Given the description of an element on the screen output the (x, y) to click on. 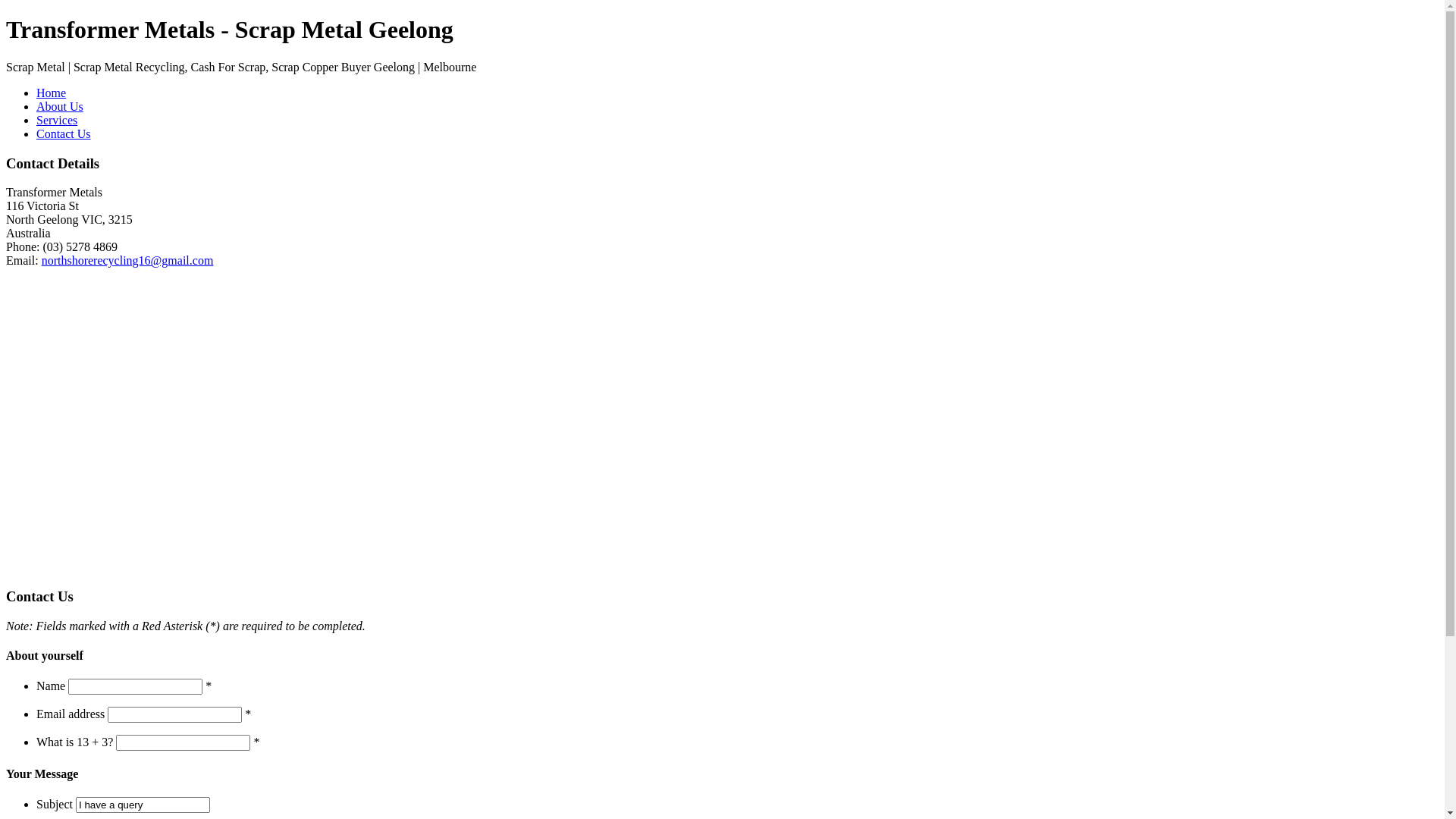
northshorerecycling16@gmail.com Element type: text (127, 260)
Contact Us Element type: text (63, 133)
Embedded Google map Element type: hover (157, 419)
About Us Element type: text (59, 106)
Home Element type: text (50, 92)
Services Element type: text (56, 119)
